Given the description of an element on the screen output the (x, y) to click on. 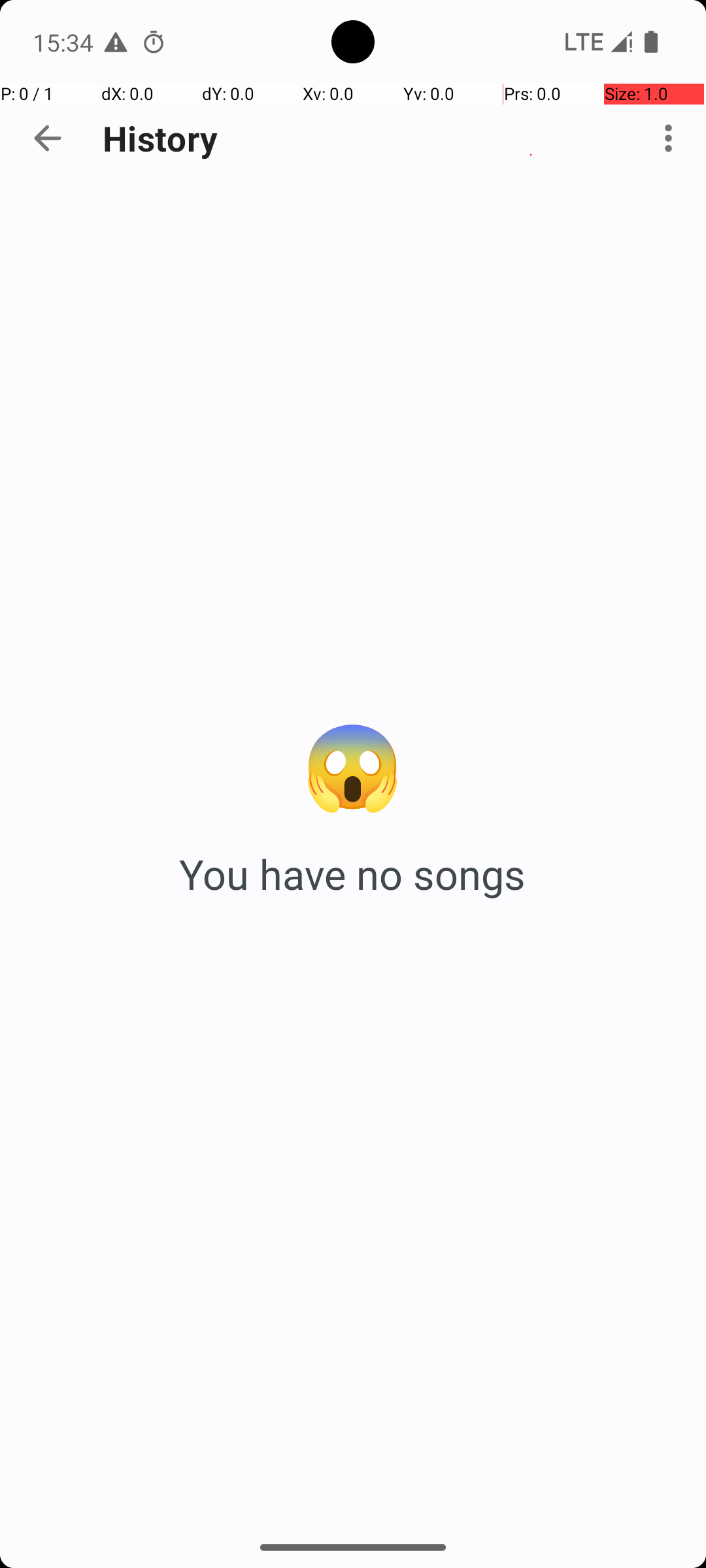
😱 Element type: android.widget.TextView (352, 763)
You have no songs Element type: android.widget.TextView (352, 873)
